Given the description of an element on the screen output the (x, y) to click on. 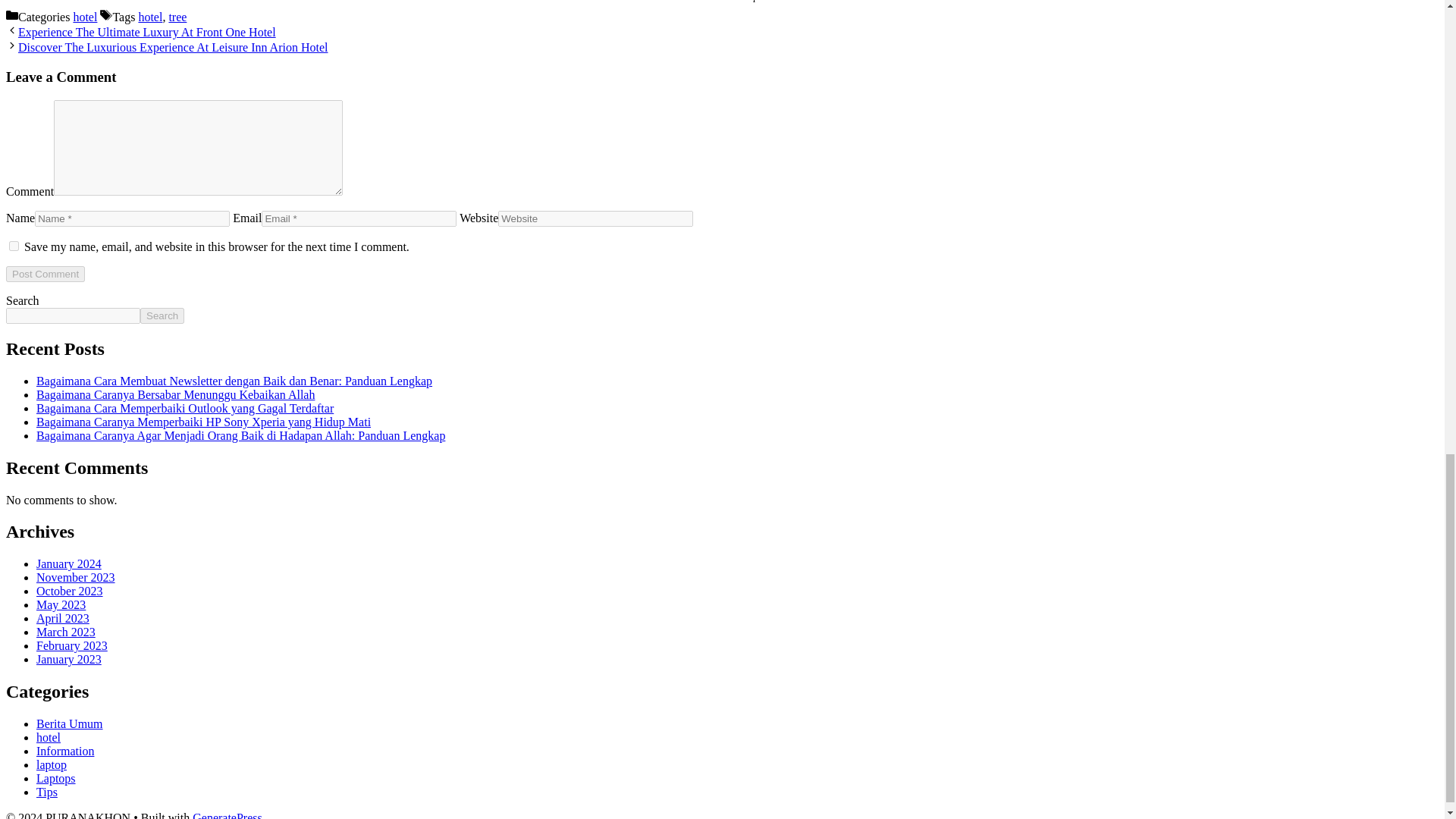
hotel (84, 16)
Experience The Ultimate Luxury At Front One Hotel (146, 31)
Post Comment (44, 273)
Post Comment (44, 273)
hotel (149, 16)
Laptops (55, 778)
Discover The Luxurious Experience At Leisure Inn Arion Hotel (172, 47)
Search (161, 315)
January 2024 (68, 563)
Berita Umum (69, 723)
November 2023 (75, 576)
laptop (51, 764)
hotel (48, 737)
March 2023 (66, 631)
